Given the description of an element on the screen output the (x, y) to click on. 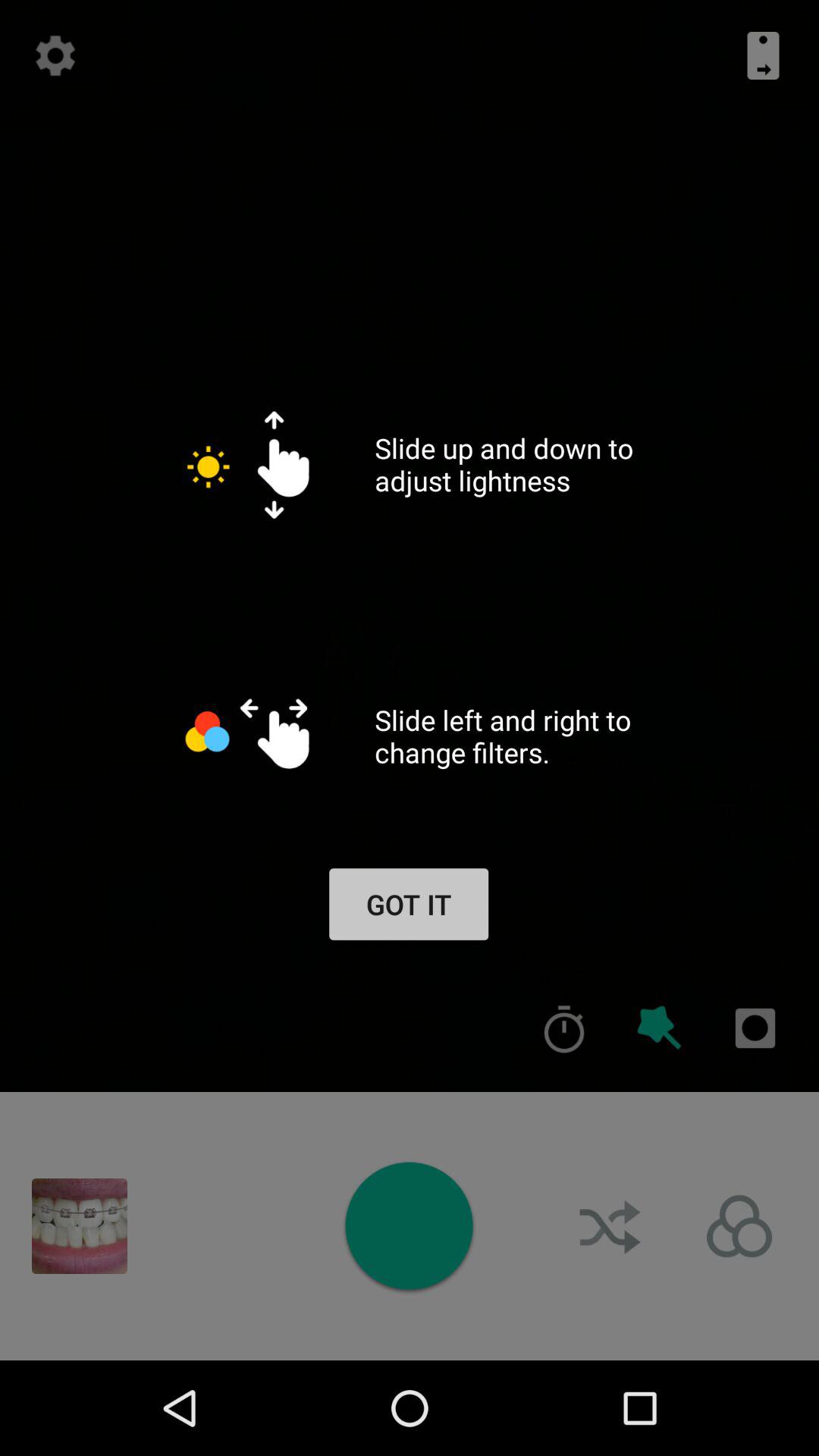
go to last picture (79, 1226)
